Given the description of an element on the screen output the (x, y) to click on. 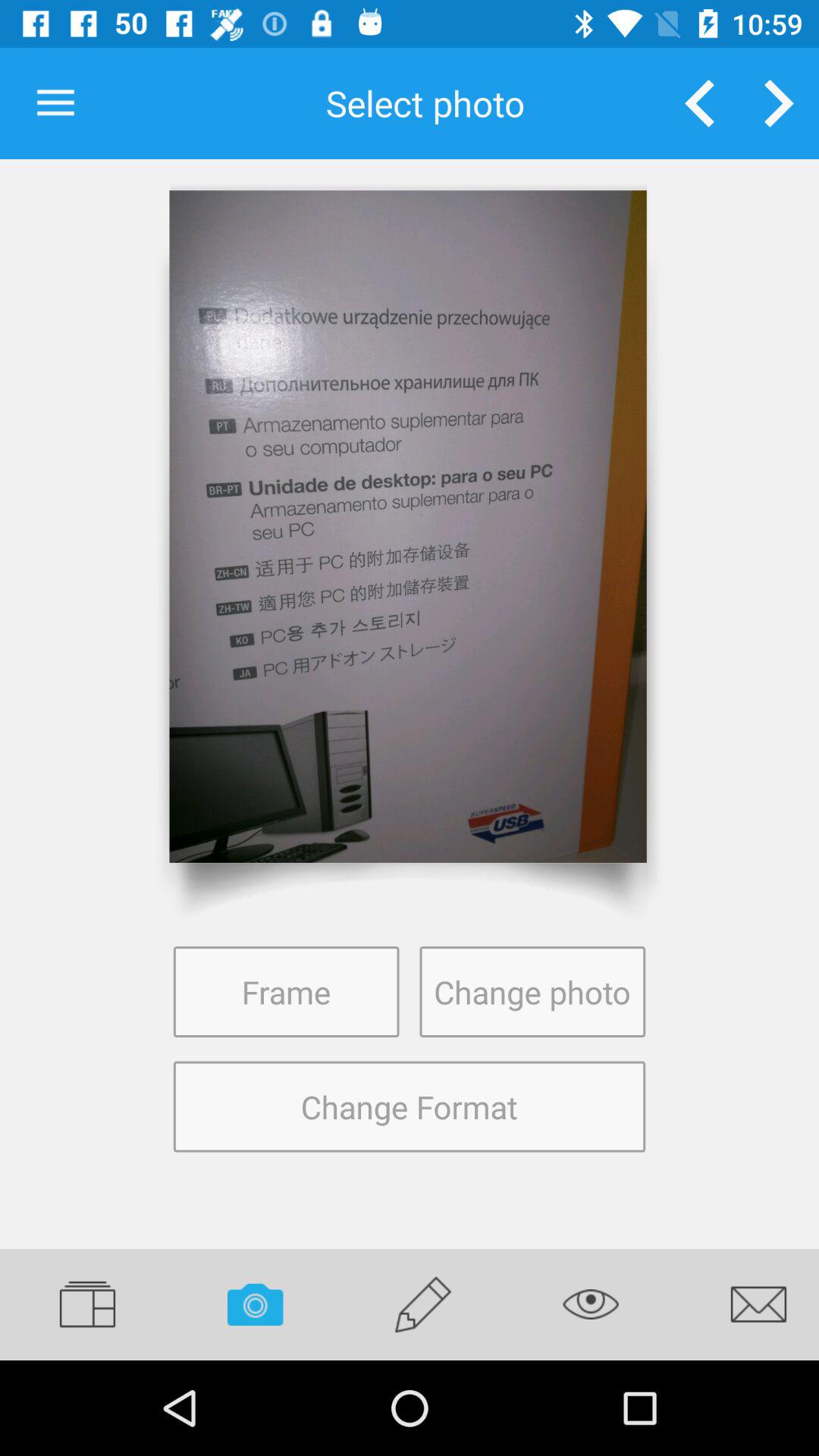
move to left photo (699, 103)
